Given the description of an element on the screen output the (x, y) to click on. 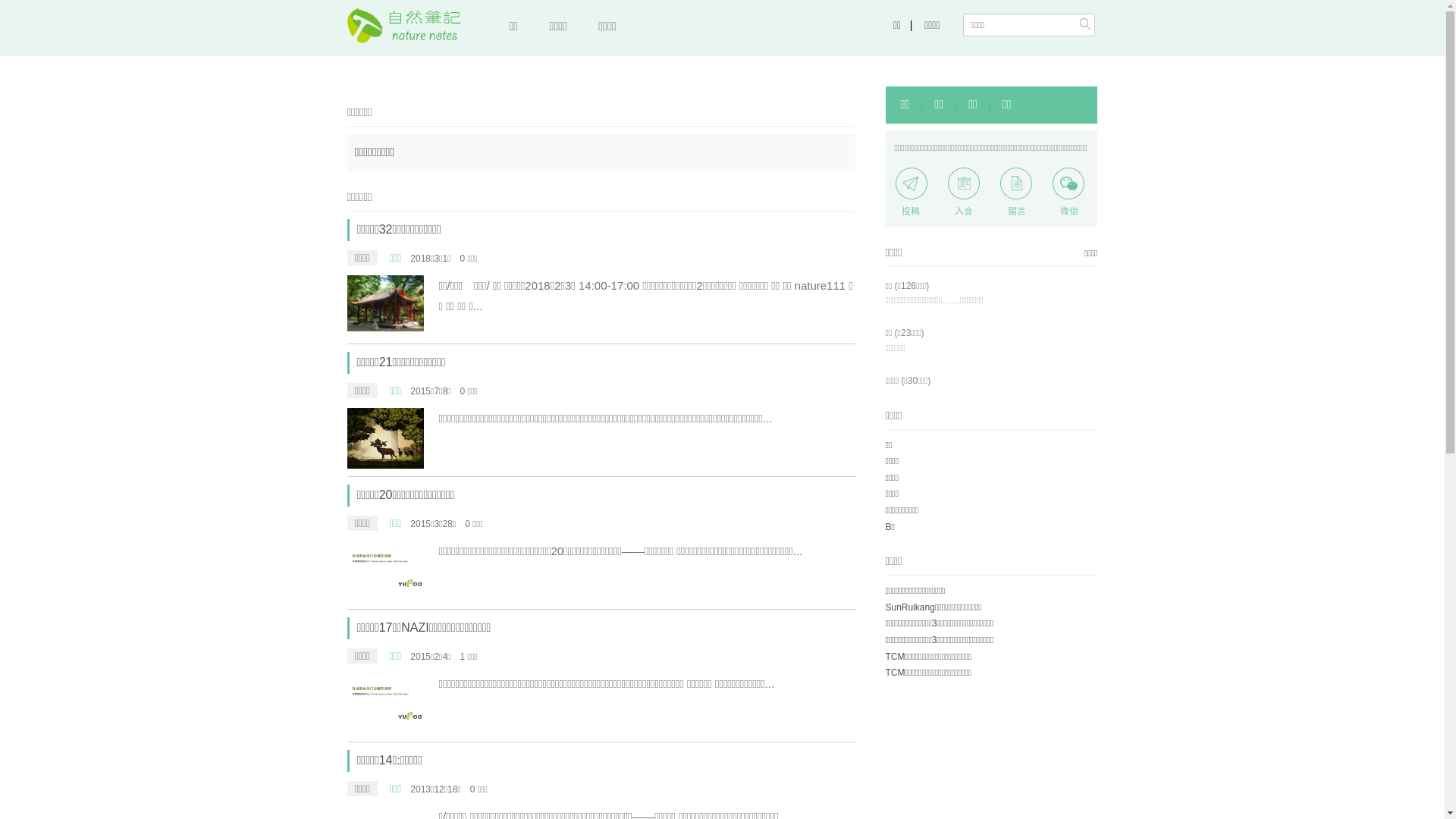
TCM Element type: text (895, 672)
TCM Element type: text (895, 656)
SunRuikang Element type: text (910, 607)
